Given the description of an element on the screen output the (x, y) to click on. 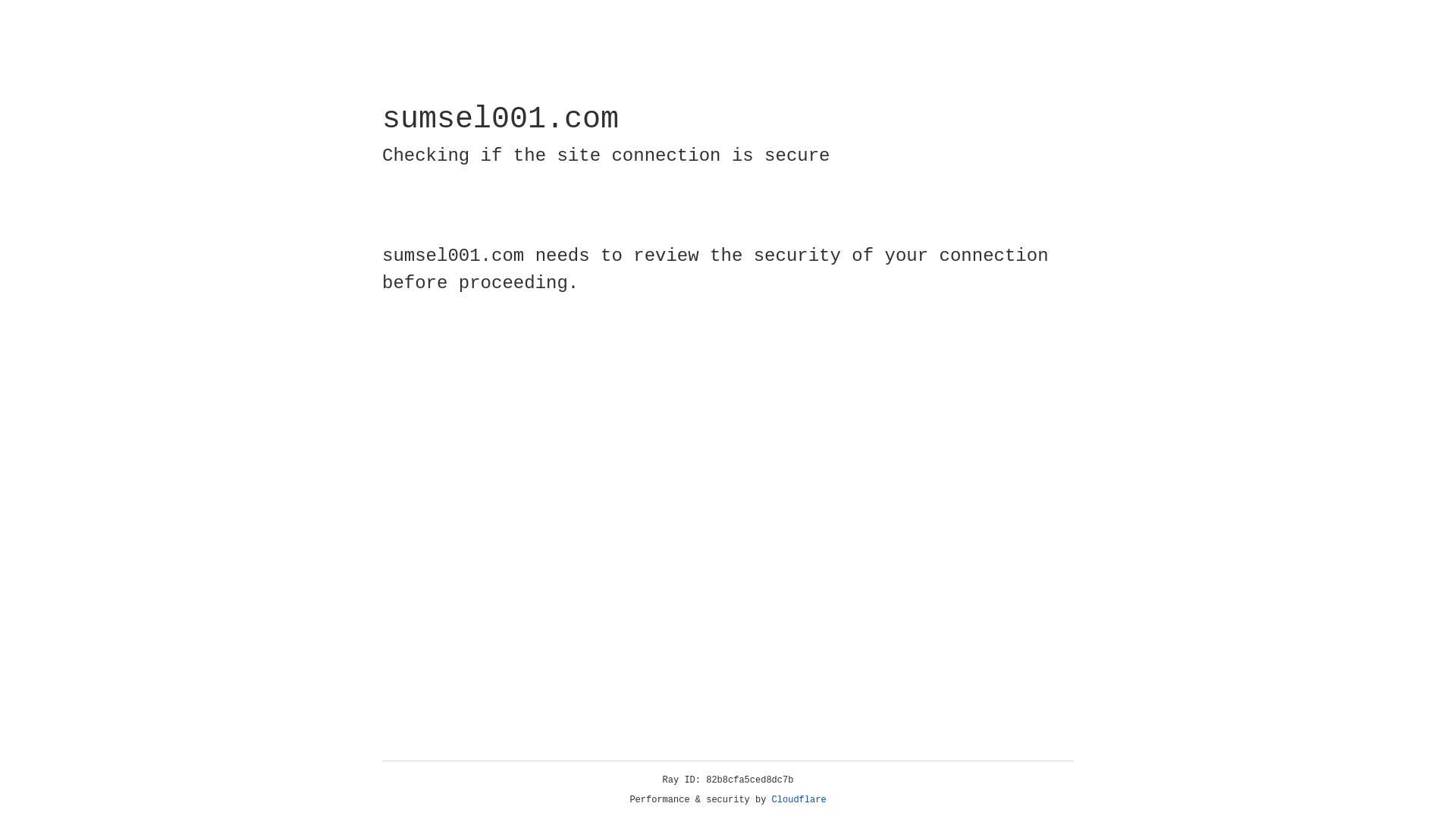
Cloudflare Element type: text (798, 799)
